Given the description of an element on the screen output the (x, y) to click on. 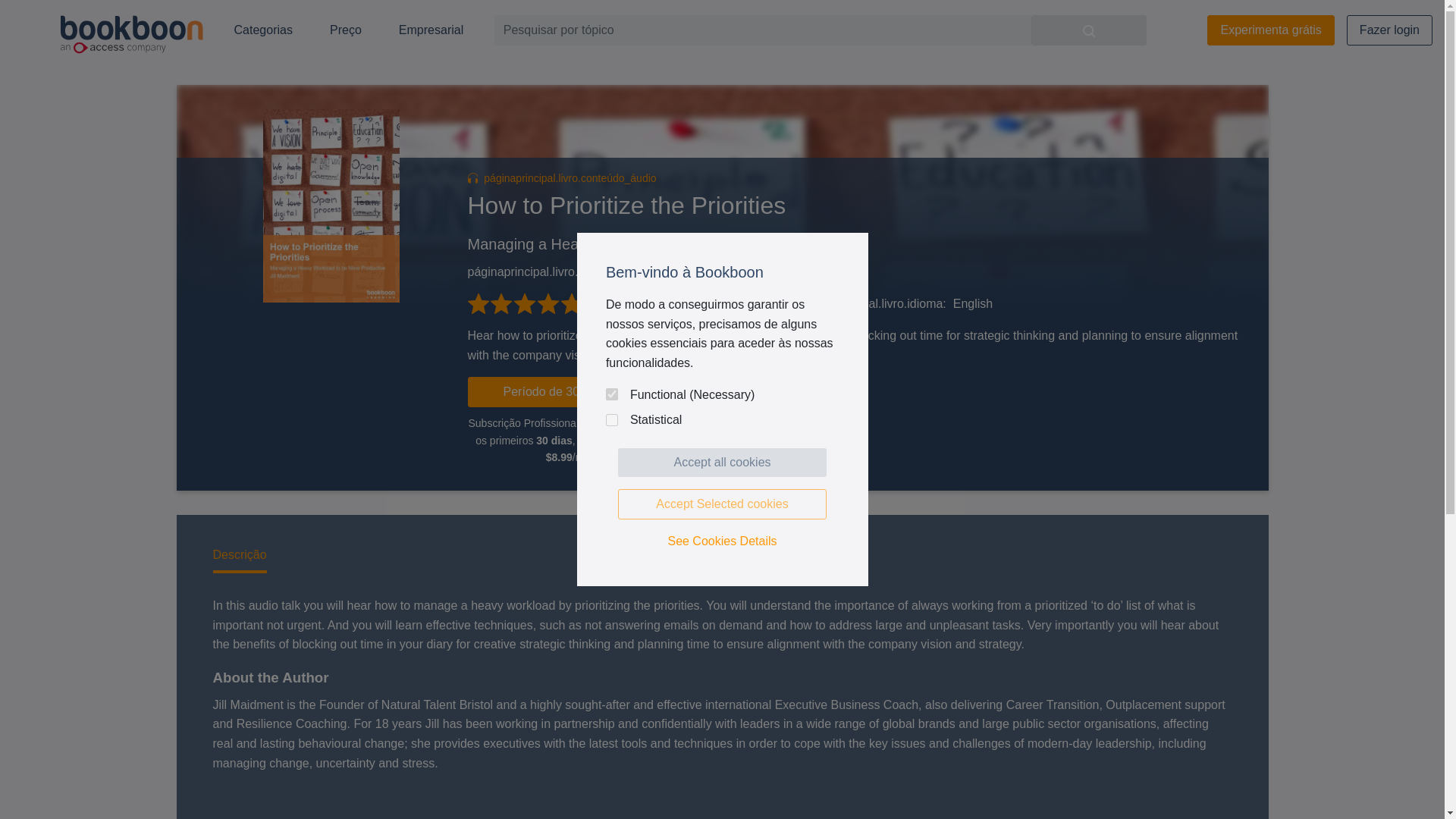
FUNCTIONAL (611, 394)
See Cookies Details (722, 541)
Empresarial (430, 30)
STATISTICAL (611, 419)
Accept Selected cookies (722, 503)
Accept all cookies (722, 461)
Categorias (262, 30)
